Given the description of an element on the screen output the (x, y) to click on. 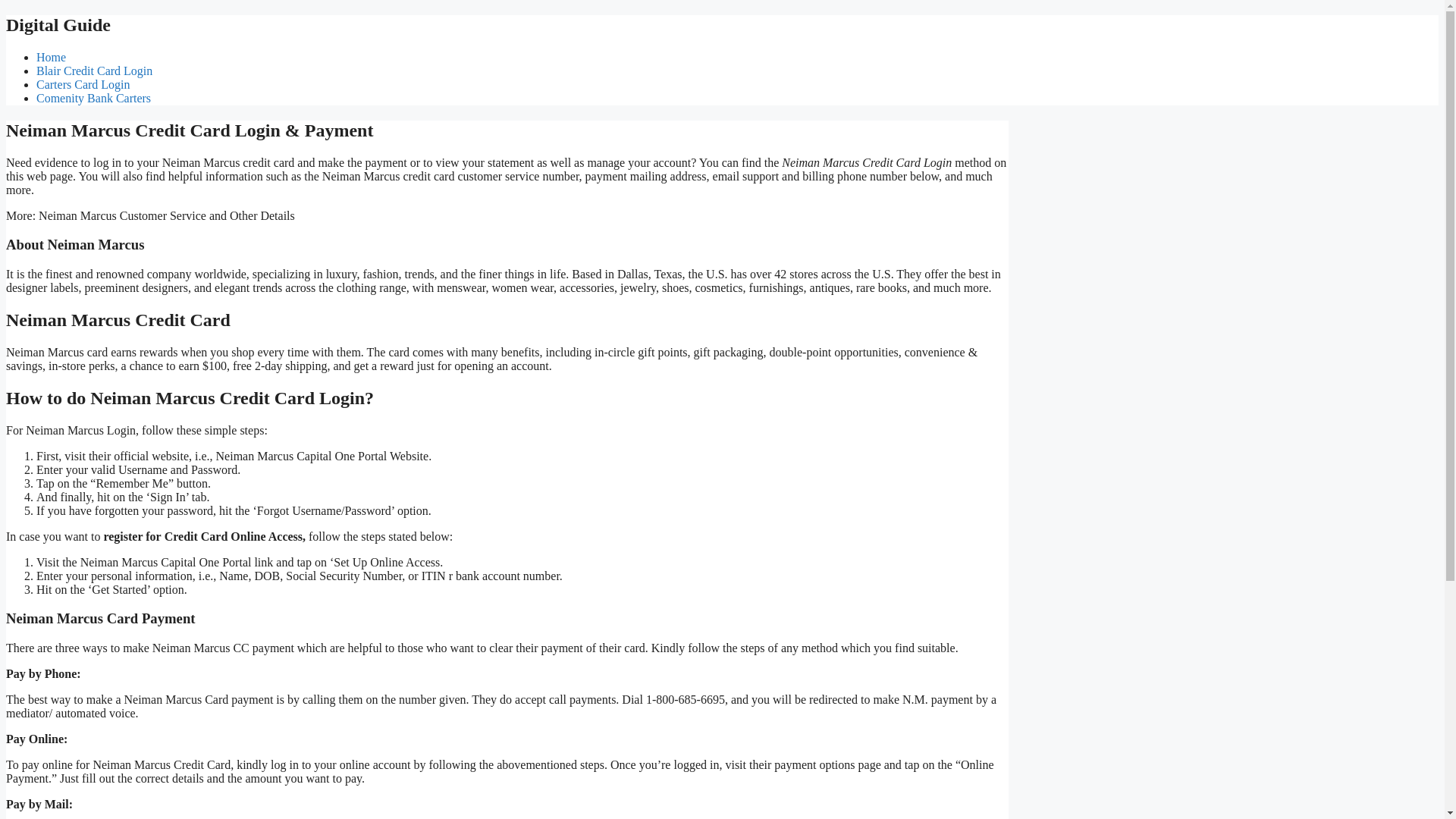
Home (50, 56)
Blair Credit Card Login (94, 70)
Comenity Bank Carters (93, 97)
Digital Guide (57, 25)
Carters Card Login (83, 83)
